Given the description of an element on the screen output the (x, y) to click on. 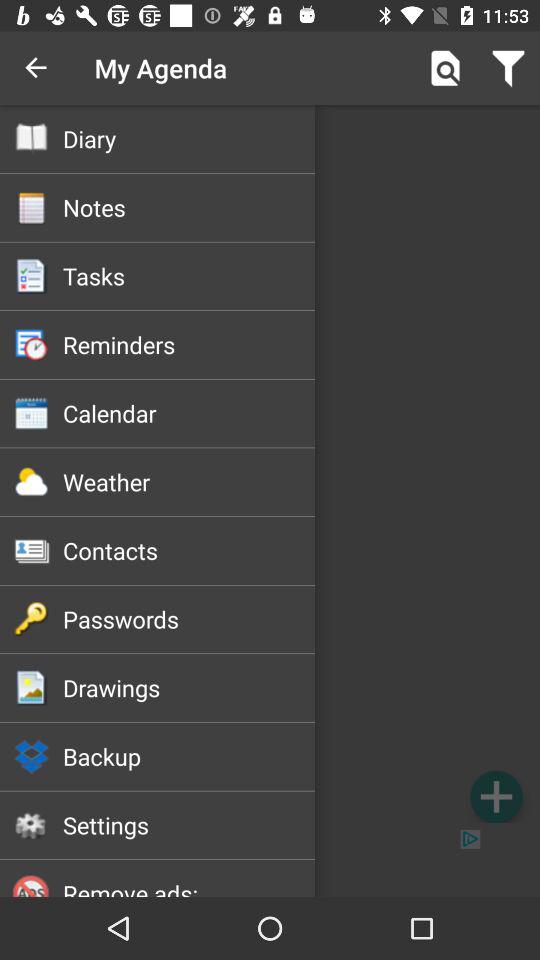
add option (496, 796)
